Given the description of an element on the screen output the (x, y) to click on. 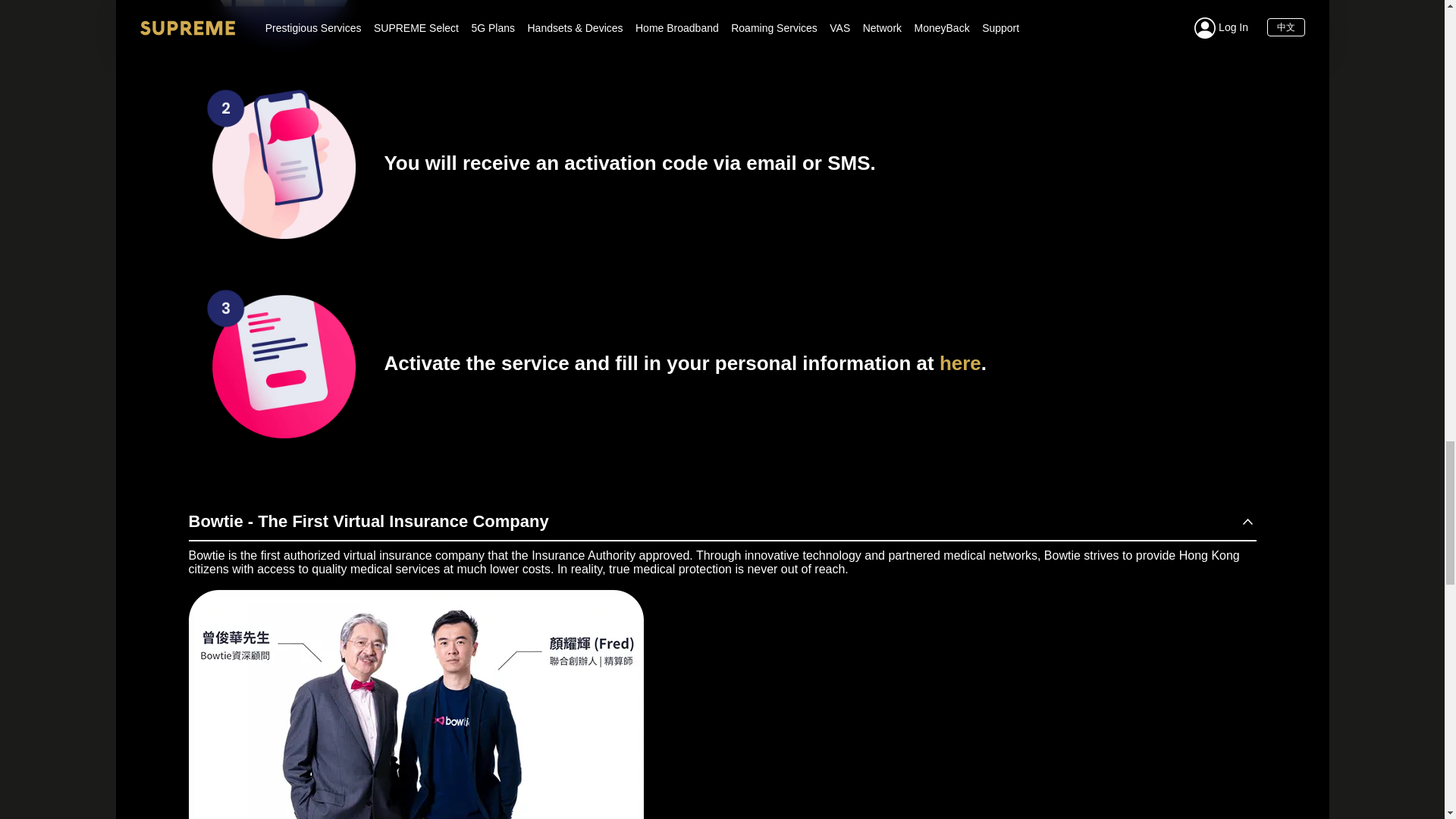
here (960, 363)
